Given the description of an element on the screen output the (x, y) to click on. 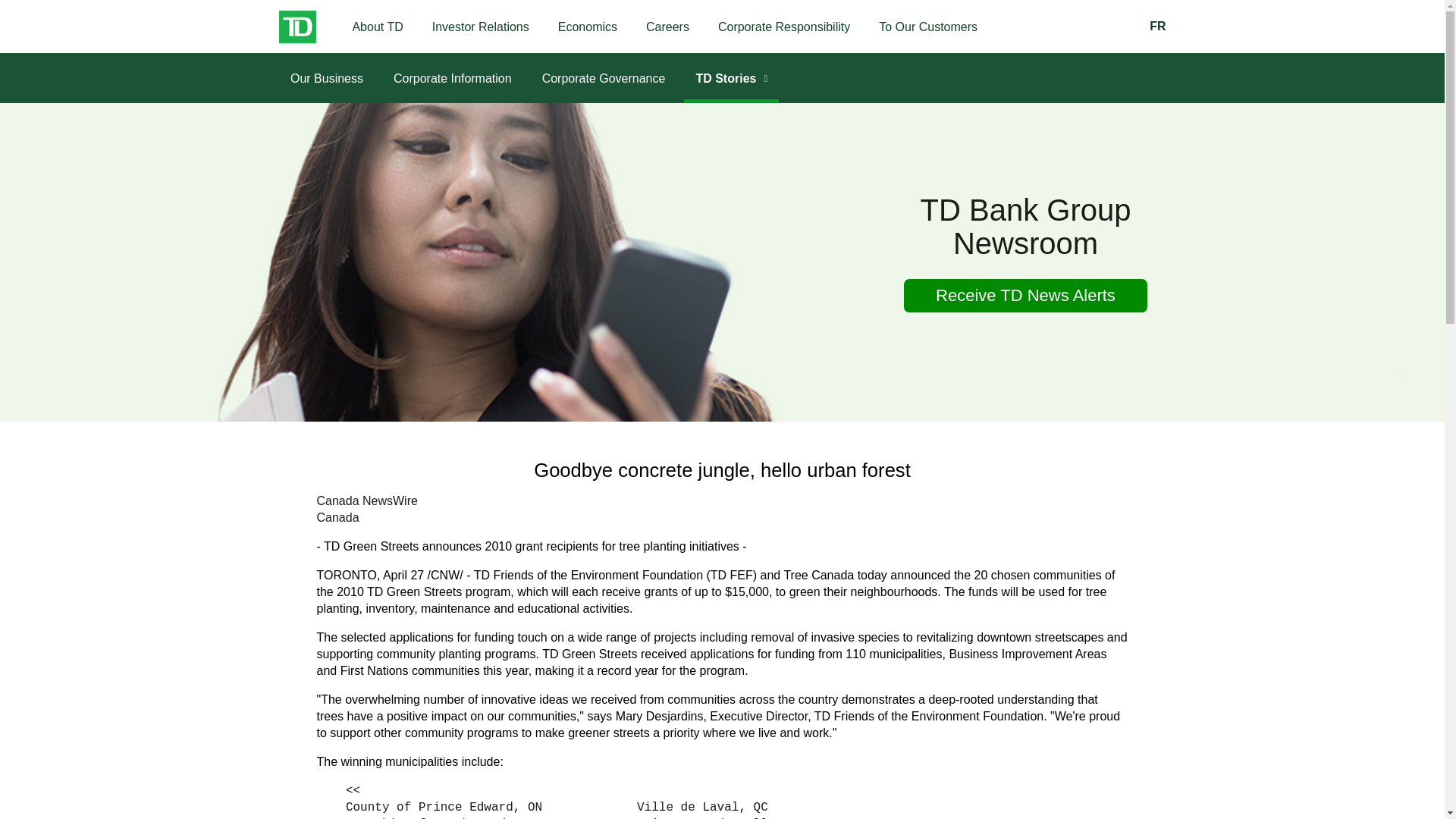
Economics (587, 26)
Our Business (325, 78)
Receive TD News Alerts (1026, 295)
Corporate Information (452, 78)
Corporate Responsibility (783, 26)
FR (1155, 26)
TD Stories (731, 78)
To Our Customers (927, 26)
Investor Relations (480, 26)
Corporate Governance (603, 78)
About TD (377, 26)
